Given the description of an element on the screen output the (x, y) to click on. 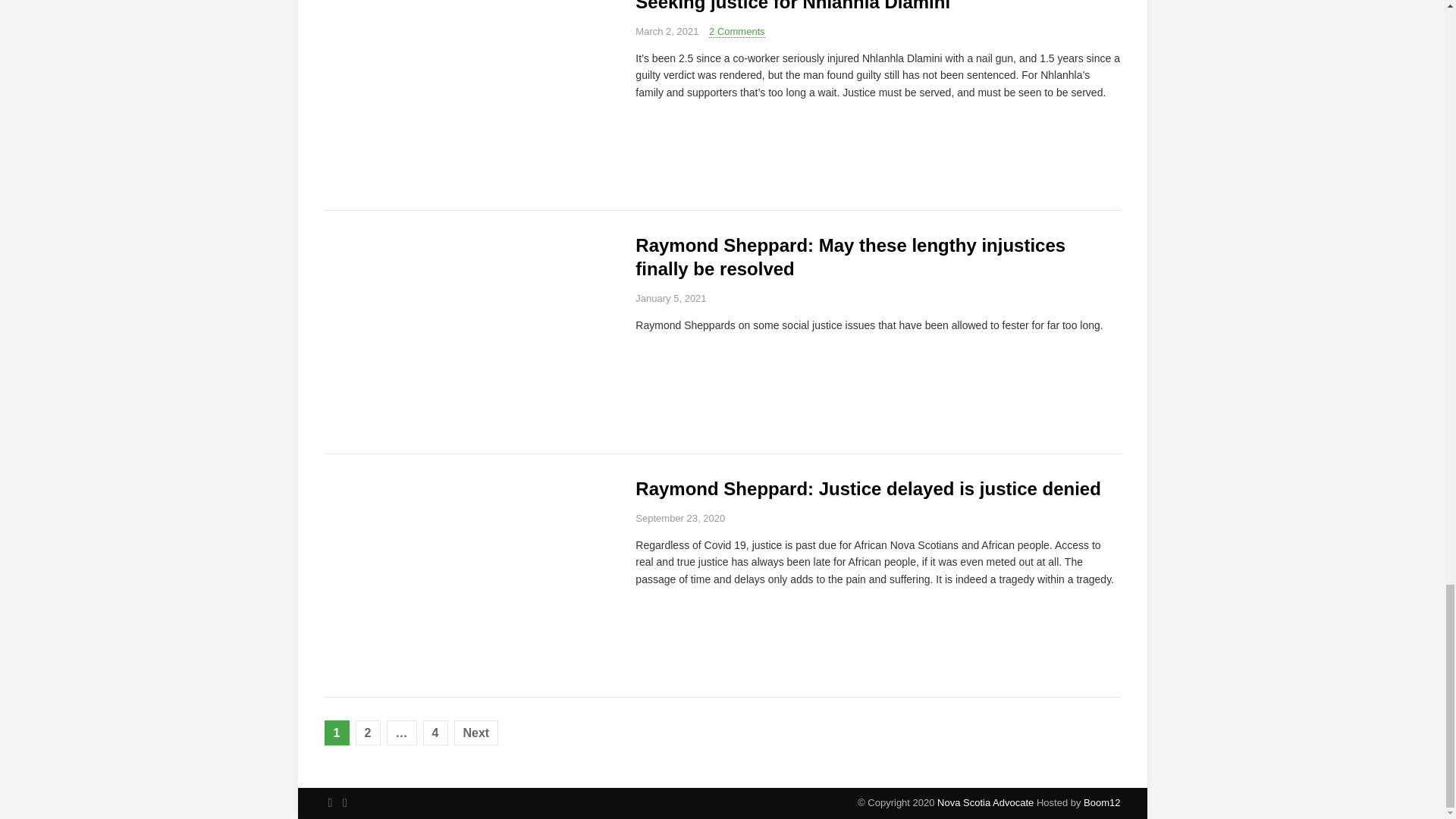
Tuesday, January 5, 2021, 4:21 pm (670, 297)
Wednesday, September 23, 2020, 12:43 pm (679, 518)
Tuesday, March 2, 2021, 3:21 pm (666, 30)
